Given the description of an element on the screen output the (x, y) to click on. 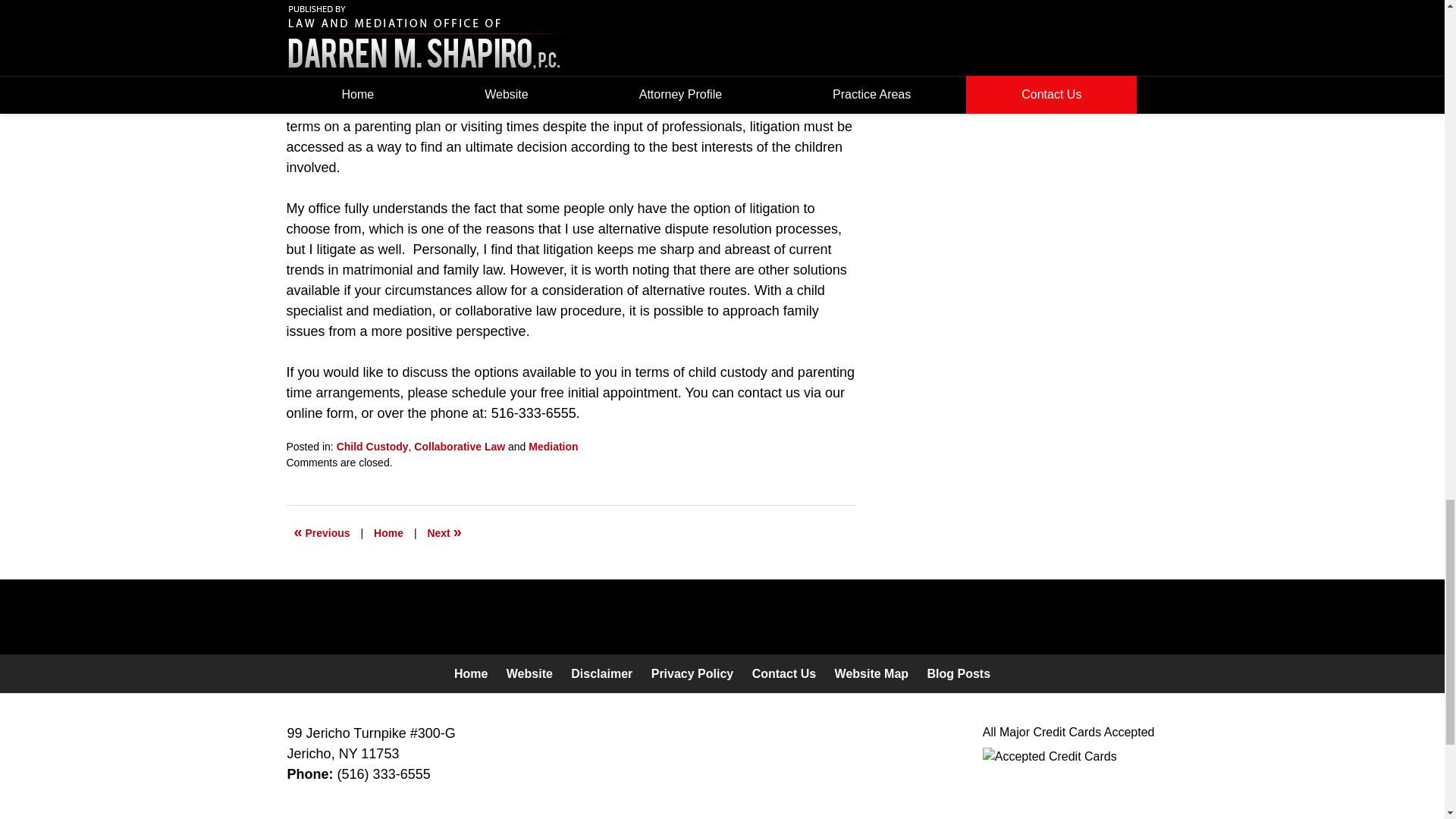
View all posts in Child Custody (372, 446)
Mediation (553, 446)
View all posts in Mediation (553, 446)
Collaborative Law (459, 446)
Home (388, 533)
What Are Parent Coordinators in Child Custody Cases? (322, 533)
Child Custody (372, 446)
View all posts in Collaborative Law (459, 446)
